Given the description of an element on the screen output the (x, y) to click on. 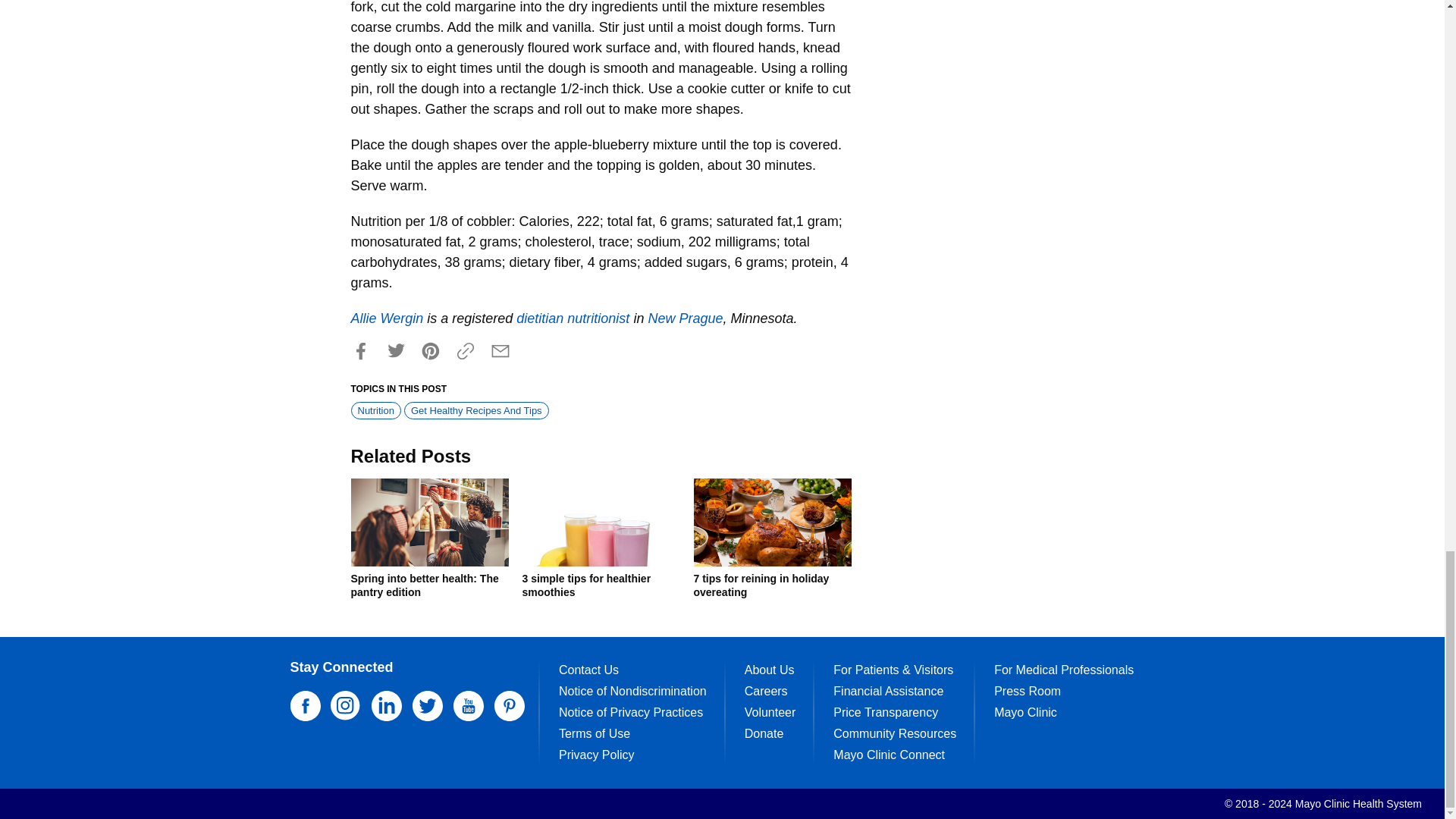
Opens in same window. (684, 318)
Opens in same window. (572, 318)
Opens in same window. (386, 318)
Thanksgiving meal with turkey, Brussel sprouts and apple pie (771, 522)
